Given the description of an element on the screen output the (x, y) to click on. 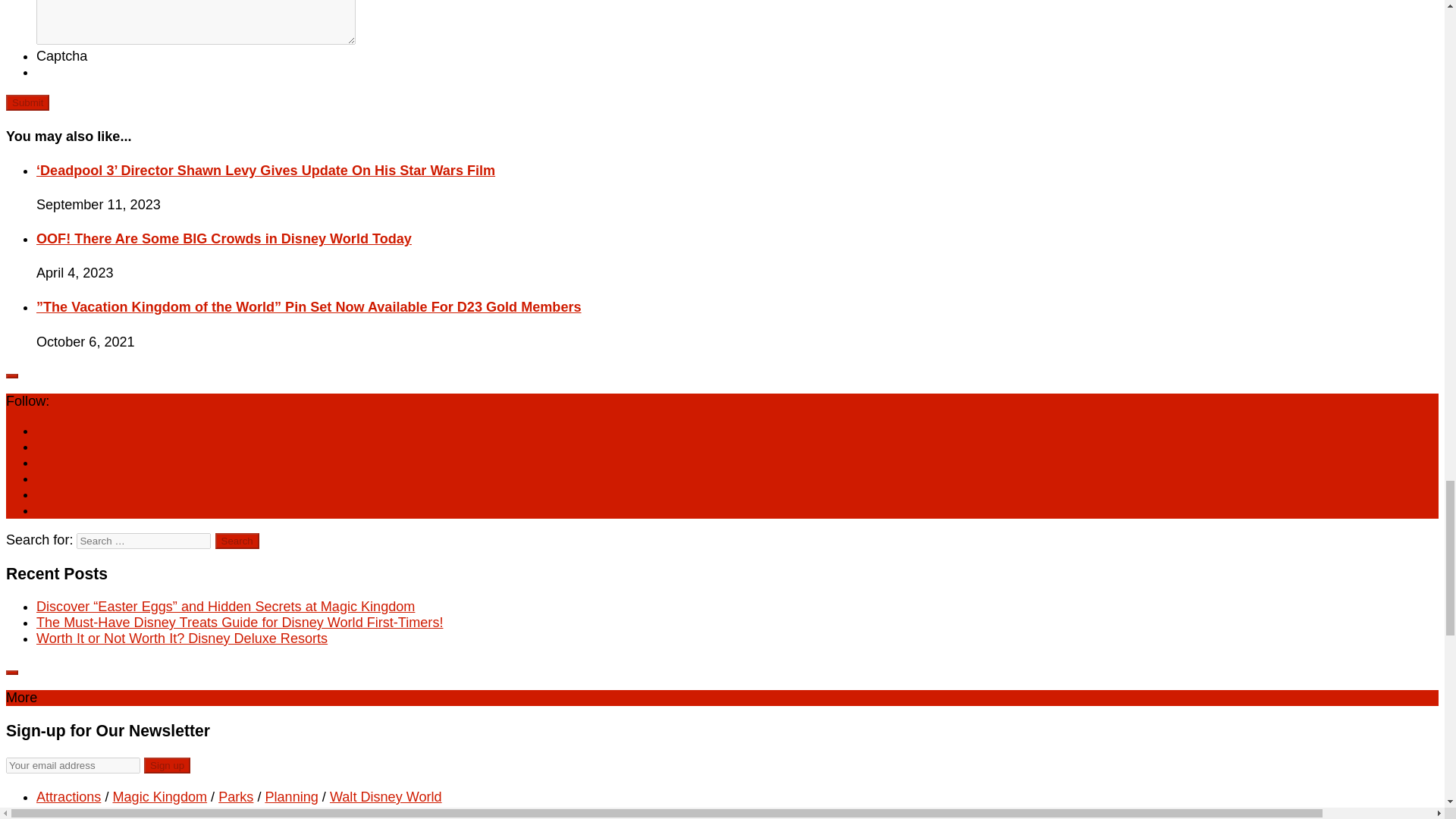
Expand Sidebar (11, 375)
Search (237, 540)
Expand Sidebar (11, 672)
Sign up (167, 765)
Submit (27, 102)
Search (237, 540)
